Given the description of an element on the screen output the (x, y) to click on. 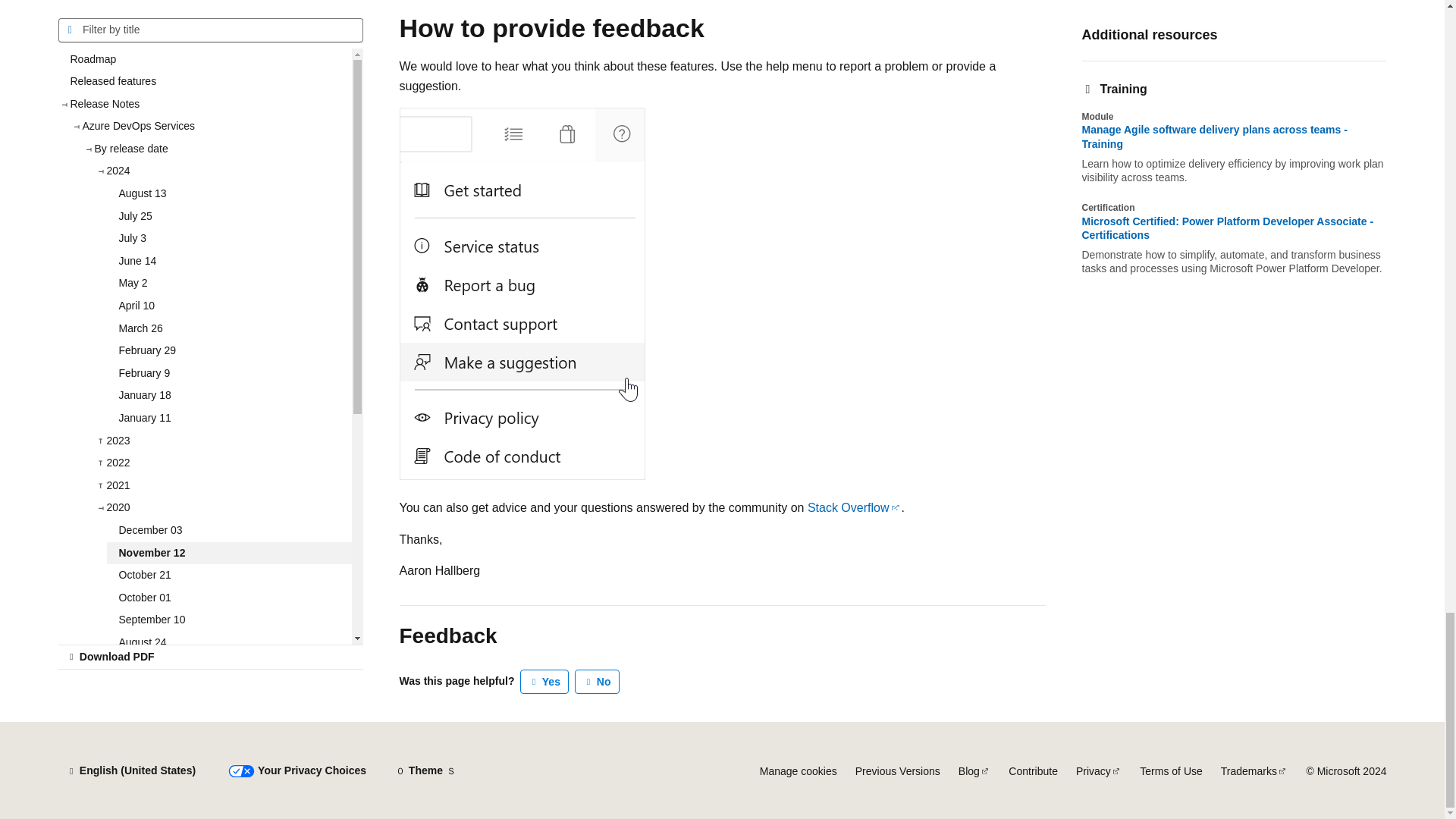
This article is helpful (544, 681)
This article is not helpful (597, 681)
Theme (425, 770)
